Given the description of an element on the screen output the (x, y) to click on. 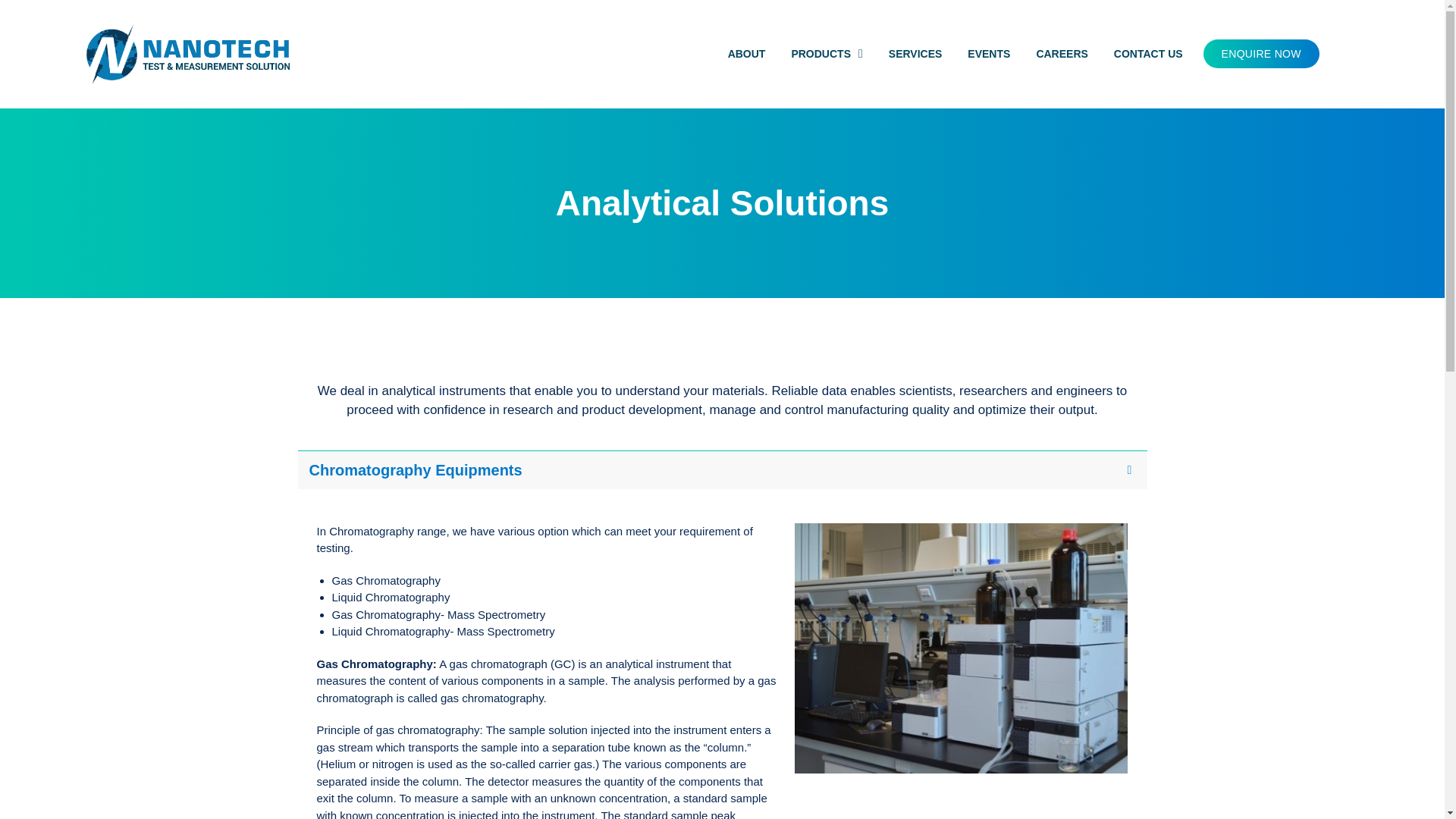
ABOUT (746, 54)
ENQUIRE NOW (1261, 53)
PRODUCTS (826, 54)
SERVICES (915, 54)
CAREERS (1061, 54)
CONTACT US (1148, 54)
EVENTS (988, 54)
